Given the description of an element on the screen output the (x, y) to click on. 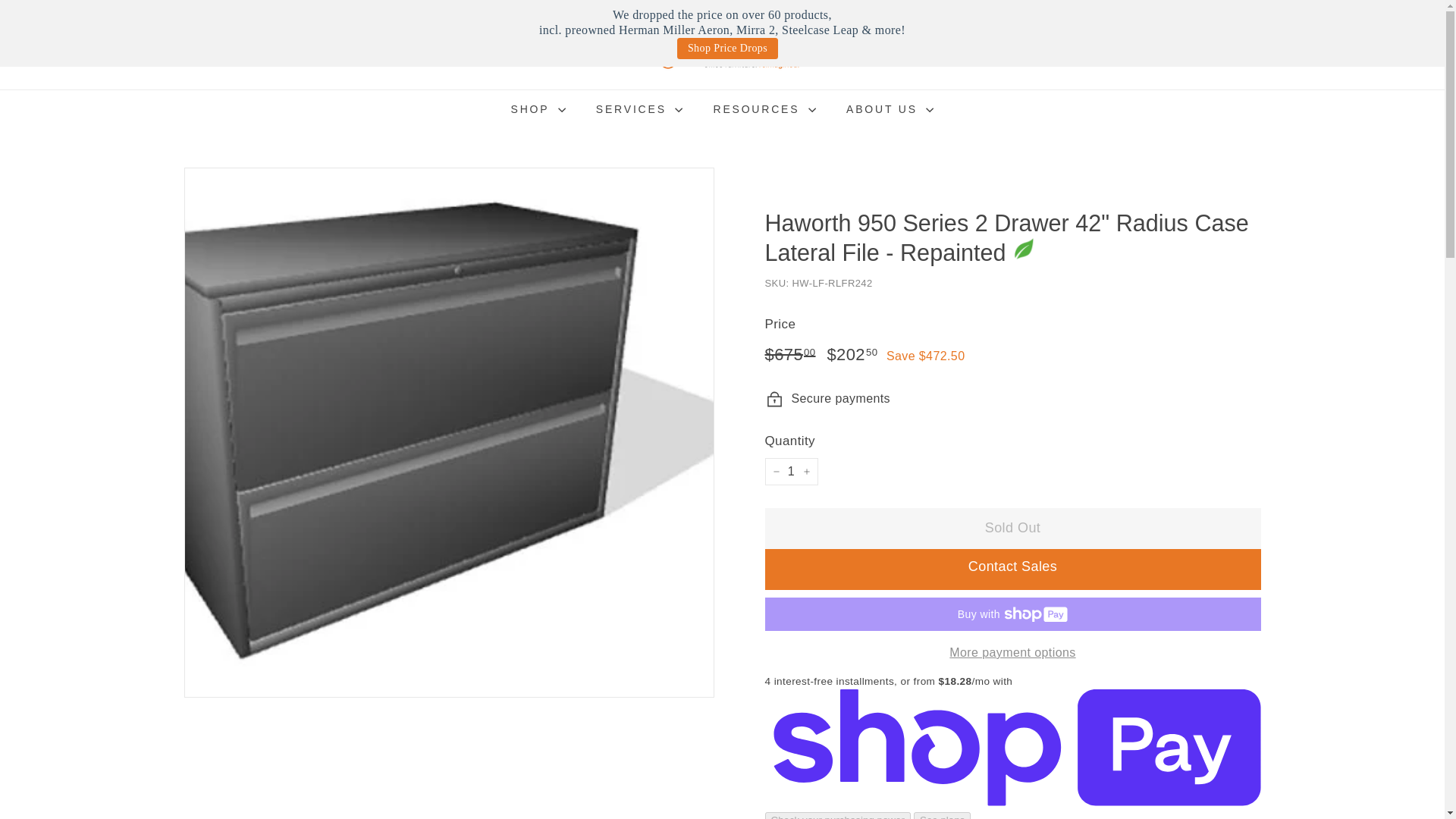
CART (1225, 44)
Shop Price Drops (727, 47)
ACCOUNT (1123, 44)
1 (790, 471)
